Given the description of an element on the screen output the (x, y) to click on. 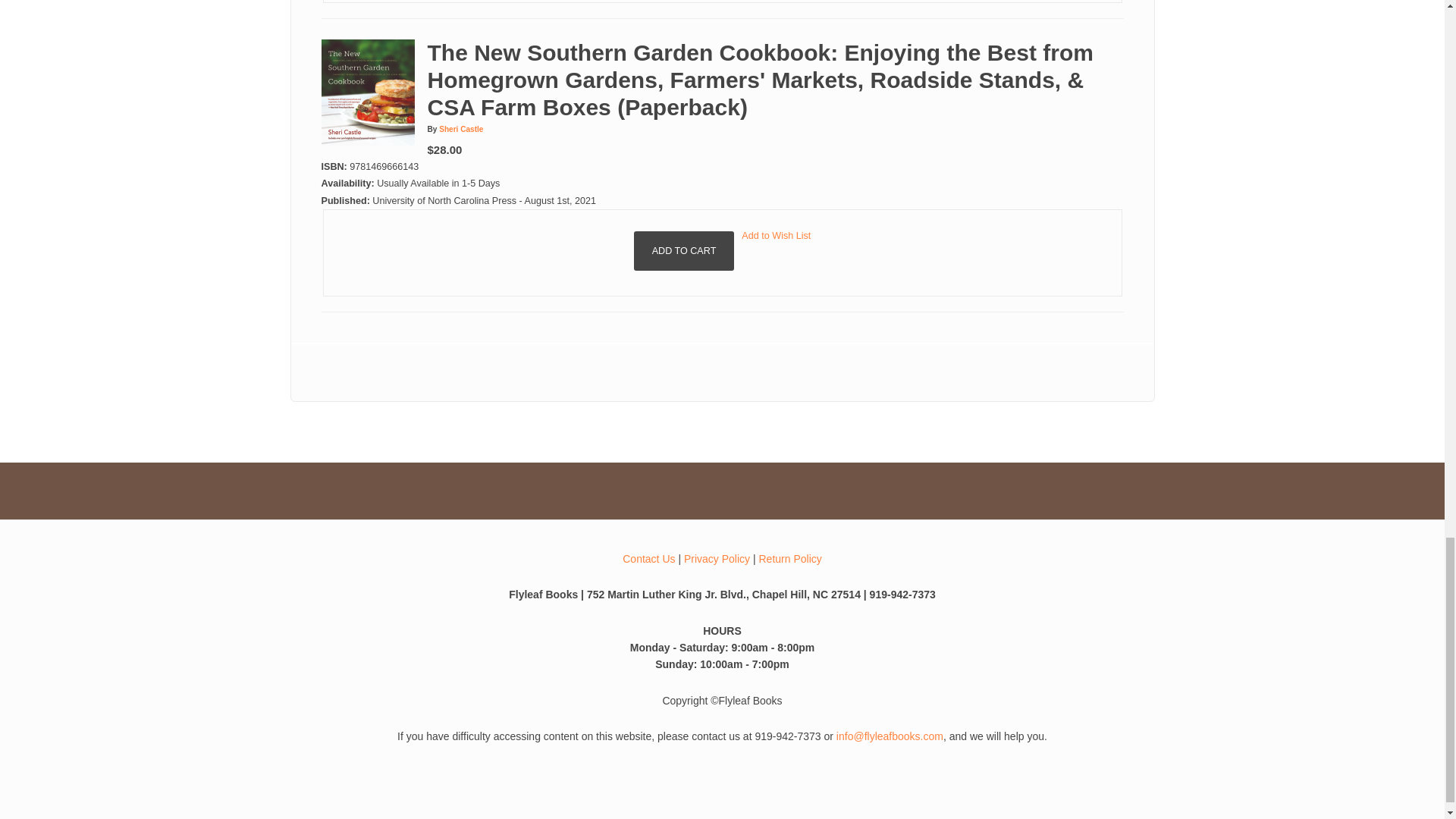
Add to Cart (684, 250)
